Given the description of an element on the screen output the (x, y) to click on. 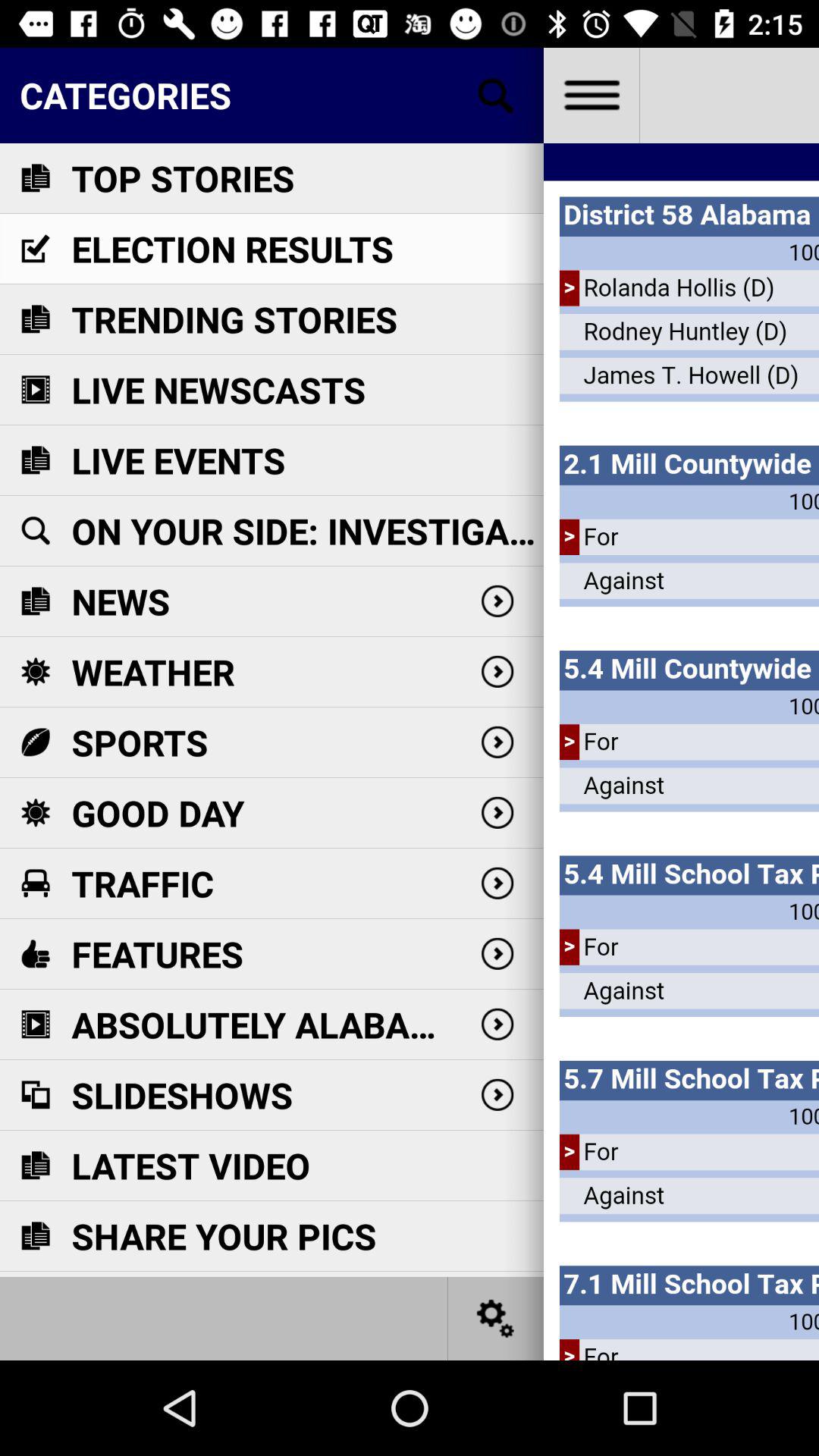
select next button which is before sports option (497, 742)
click on icon on left side of text top stories (35, 177)
select the icon which is left to the text news (35, 601)
select the icon which is before election results (35, 248)
